Given the description of an element on the screen output the (x, y) to click on. 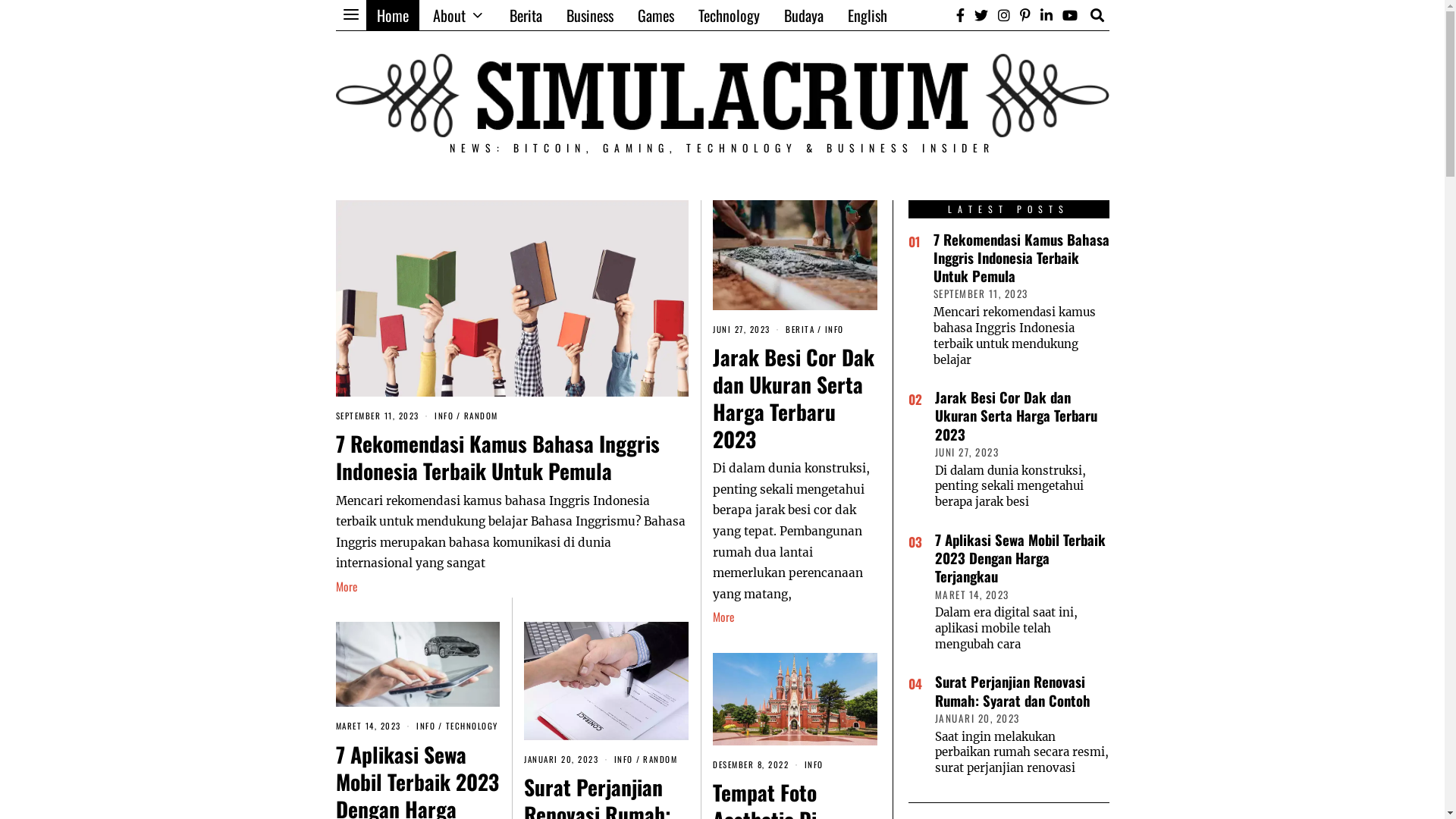
INFO Element type: text (813, 764)
INFO Element type: text (443, 415)
RANDOM Element type: text (660, 759)
TECHNOLOGY Element type: text (471, 725)
INFO Element type: text (834, 329)
Business Element type: text (589, 15)
Home Element type: text (391, 15)
Jarak Besi Cor Dak dan Ukuran Serta Harga Terbaru 2023 Element type: text (793, 397)
Pinterest Element type: hover (1025, 15)
About Element type: text (458, 15)
Surat Perjanjian Renovasi Rumah: Syarat dan Contoh Element type: text (1011, 690)
LinkedIn Element type: hover (1045, 15)
Twitter Element type: hover (980, 15)
English Element type: text (867, 15)
Technology Element type: text (728, 15)
7 Aplikasi Sewa Mobil Terbaik 2023 Dengan Harga Terjangkau Element type: text (1019, 557)
Facebook Element type: hover (960, 15)
Games Element type: text (655, 15)
INFO Element type: text (425, 725)
Jarak Besi Cor Dak dan Ukuran Serta Harga Terbaru 2023 Element type: text (1015, 415)
Budaya Element type: text (803, 15)
Berita Element type: text (525, 15)
RANDOM Element type: text (481, 415)
Instagram Element type: hover (1003, 15)
More Element type: text (723, 616)
INFO Element type: text (623, 759)
YouTube Element type: hover (1069, 15)
More Element type: text (345, 586)
BERITA Element type: text (799, 329)
